Given the description of an element on the screen output the (x, y) to click on. 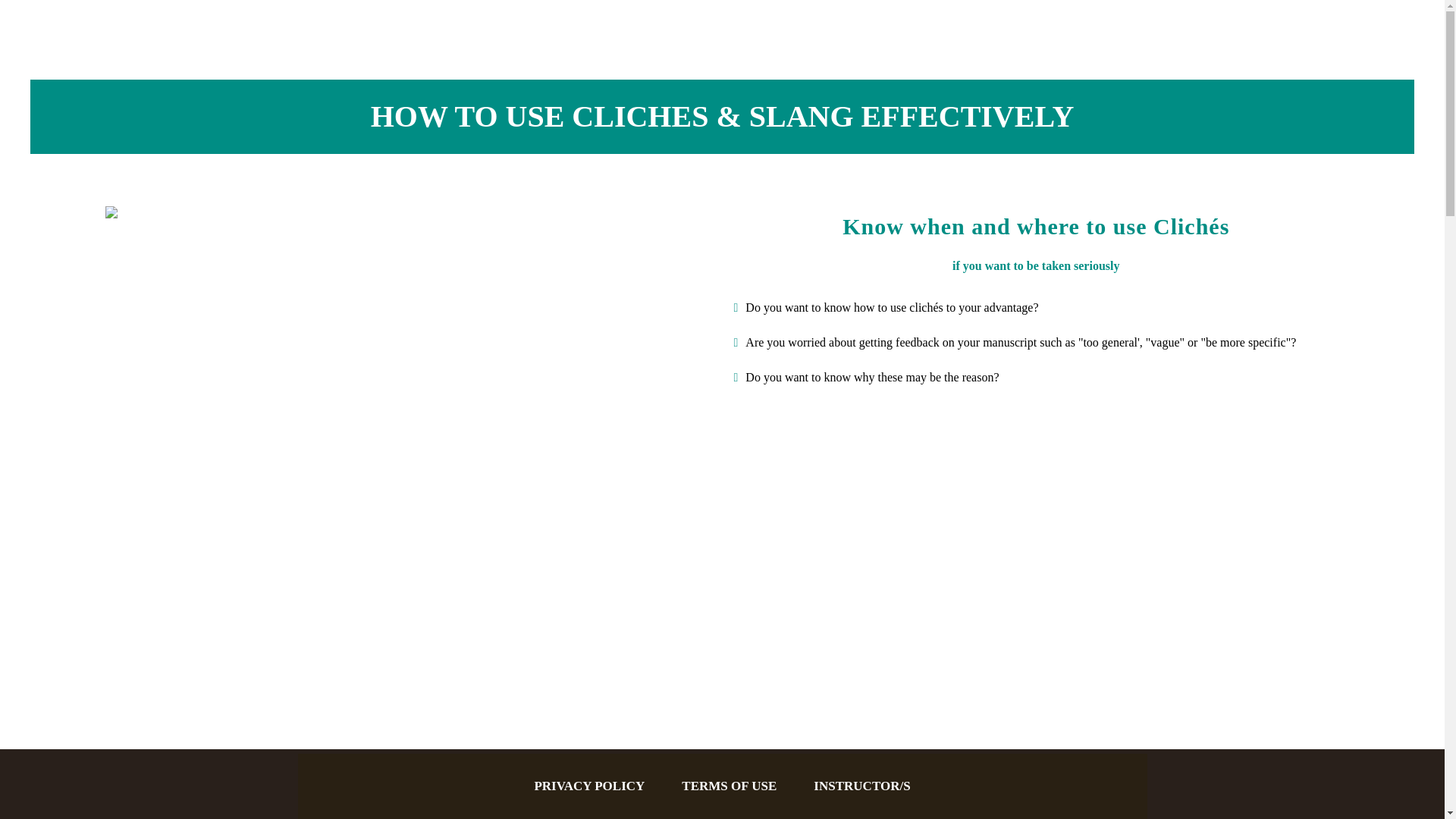
MY COURSES (1192, 29)
PRIVACY POLICY (589, 786)
NEED HELP (1369, 29)
HOME (1283, 29)
TERMS OF USE (728, 786)
